Given the description of an element on the screen output the (x, y) to click on. 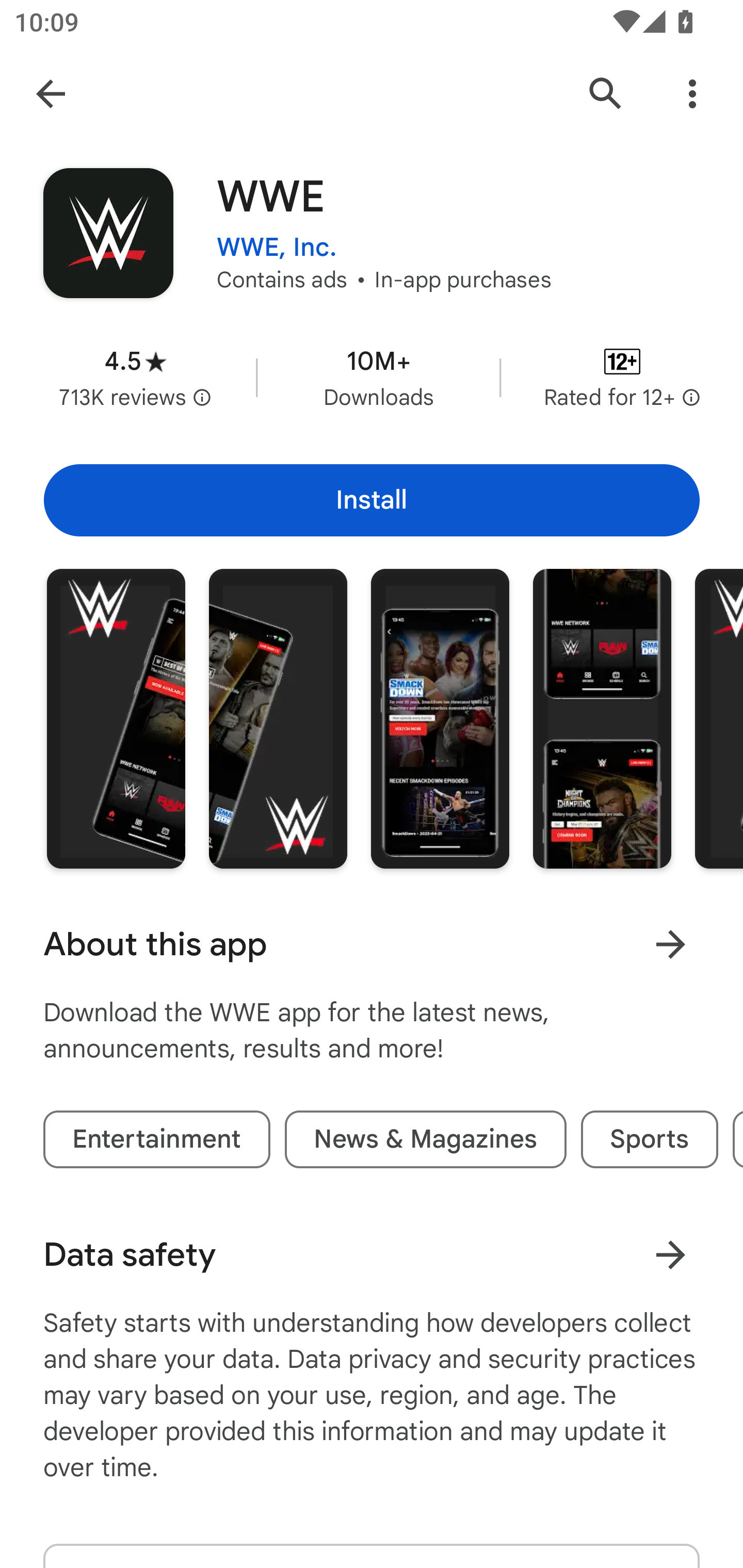
Navigate up (50, 93)
Search Google Play (605, 93)
More Options (692, 93)
WWE, Inc. (276, 233)
Average rating 4.5 stars in 713 thousand reviews (135, 377)
Content rating Rated for 12+ (622, 377)
Install (371, 500)
Screenshot "1" of "7" (115, 718)
Screenshot "2" of "7" (277, 718)
Screenshot "3" of "7" (439, 718)
Screenshot "4" of "7" (601, 718)
About this app Learn more About this app (371, 944)
Learn more About this app (670, 944)
Entertainment tag (156, 1139)
News & Magazines tag (425, 1139)
Sports tag (649, 1139)
Data safety Learn more about data safety (371, 1255)
Learn more about data safety (670, 1255)
